Given the description of an element on the screen output the (x, y) to click on. 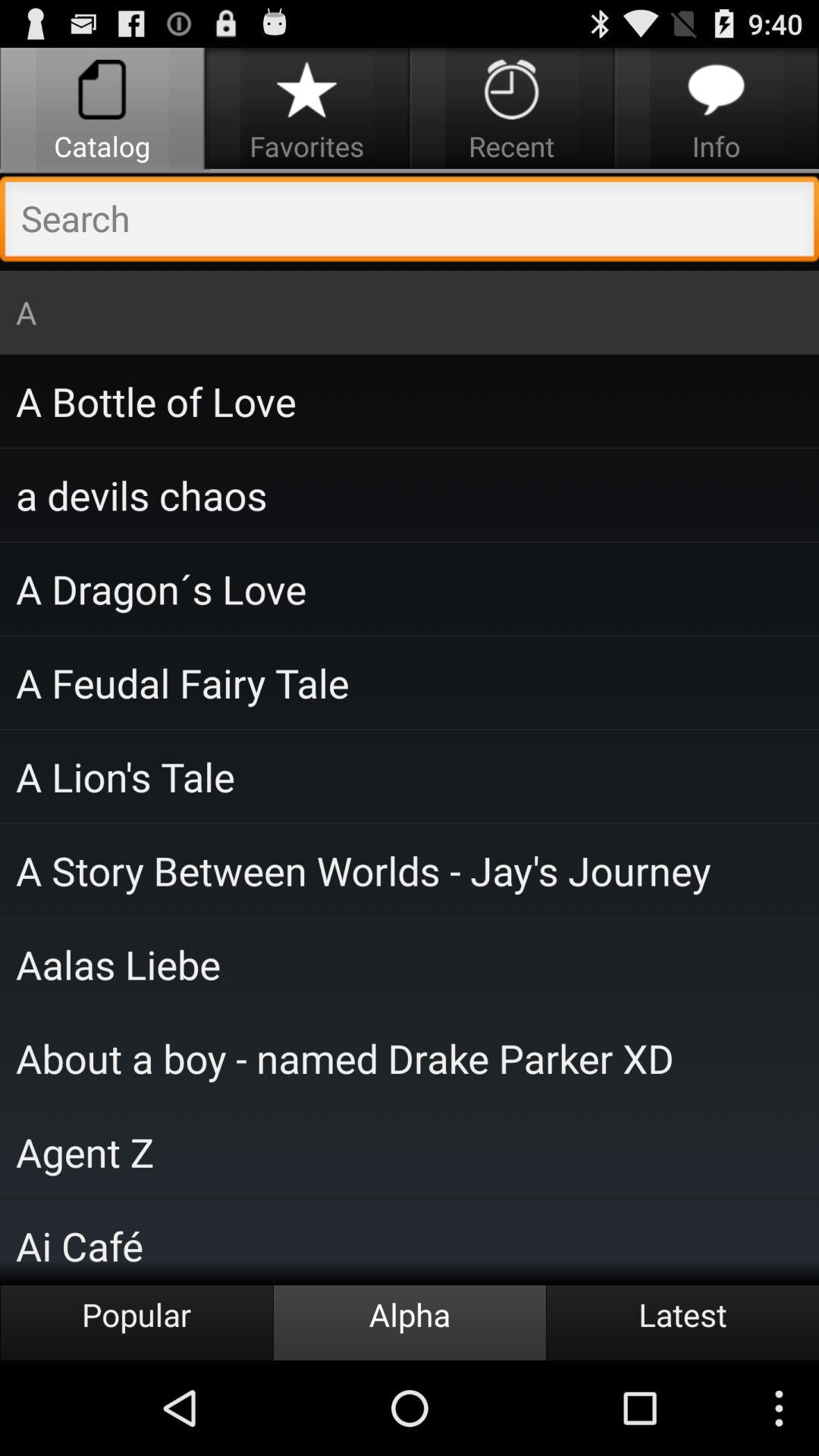
turn off item below the a story between (409, 963)
